Given the description of an element on the screen output the (x, y) to click on. 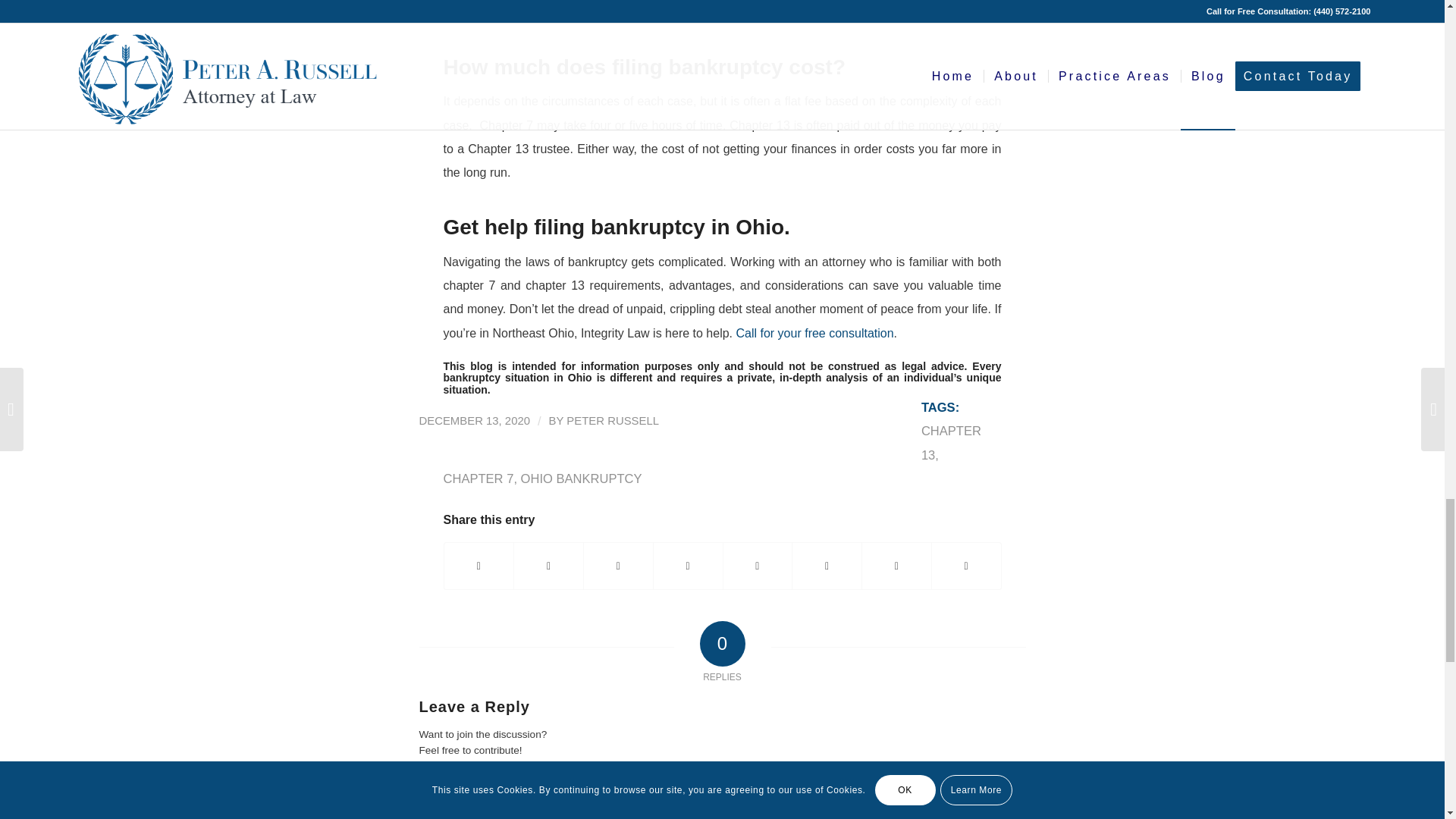
bankruptcy situation in Ohio (516, 377)
Posts by Peter Russell (612, 420)
CHAPTER 7 (477, 478)
PETER RUSSELL (612, 420)
Call for your free consultation (814, 332)
CHAPTER 13 (951, 442)
OHIO BANKRUPTCY (581, 478)
